Given the description of an element on the screen output the (x, y) to click on. 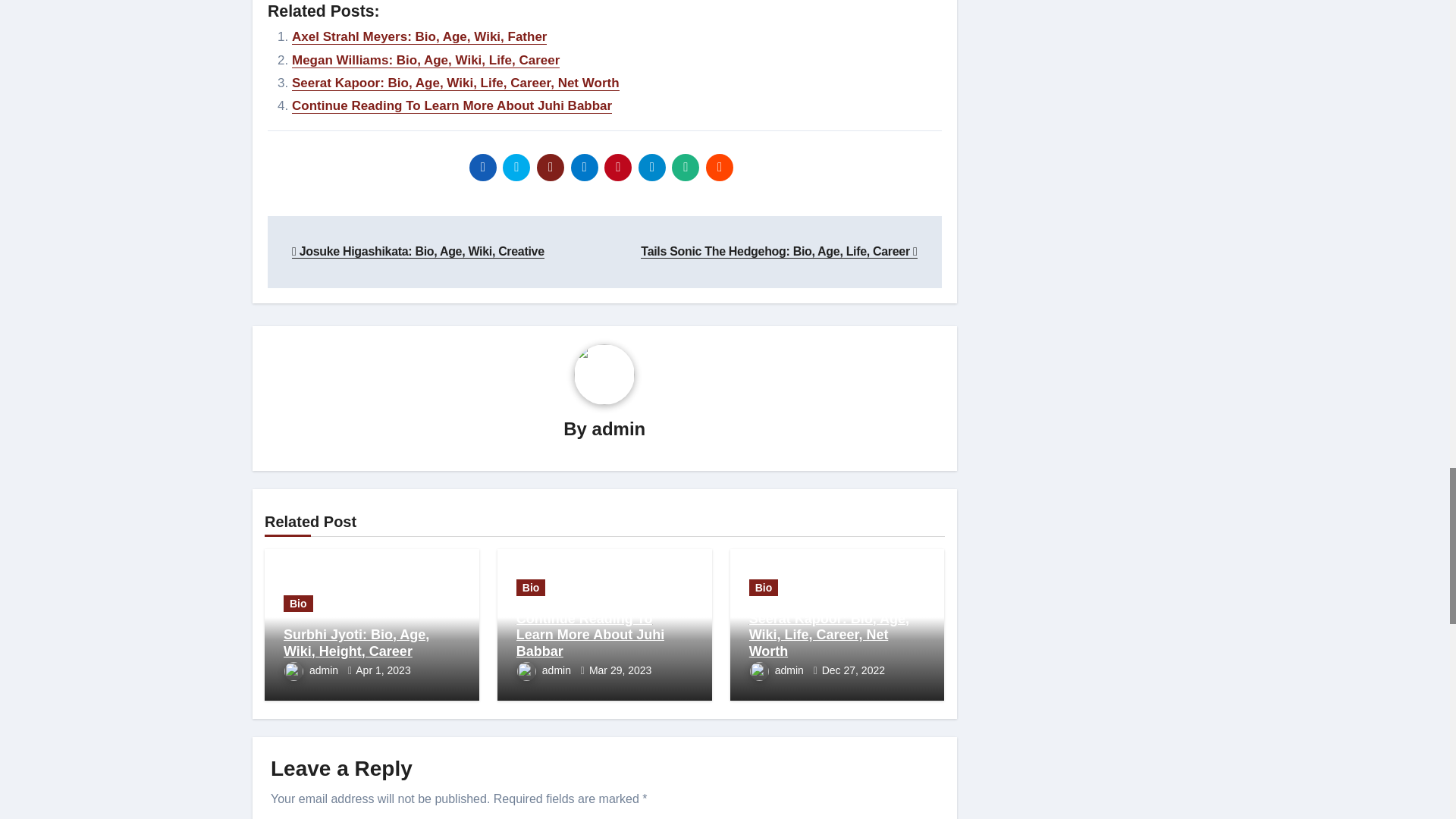
Axel Strahl Meyers: Bio, Age, Wiki, Father (419, 36)
Seerat Kapoor: Bio, Age, Wiki, Life, Career, Net Worth (456, 83)
Megan Williams: Bio, Age, Wiki, Life, Career (425, 60)
